Given the description of an element on the screen output the (x, y) to click on. 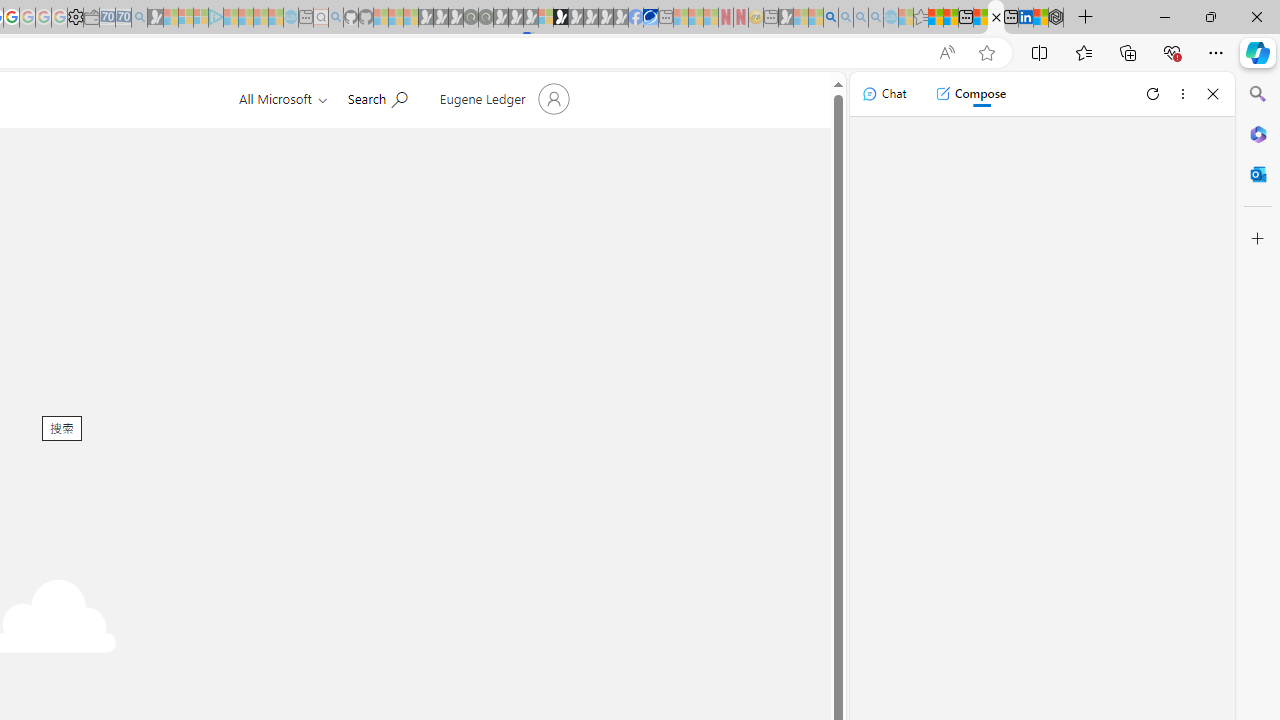
Future Focus Report 2024 - Sleeping (485, 17)
Chat (884, 93)
Nordace | Facebook - Sleeping (635, 17)
Aberdeen, Hong Kong SAR weather forecast | Microsoft Weather (950, 17)
